Given the description of an element on the screen output the (x, y) to click on. 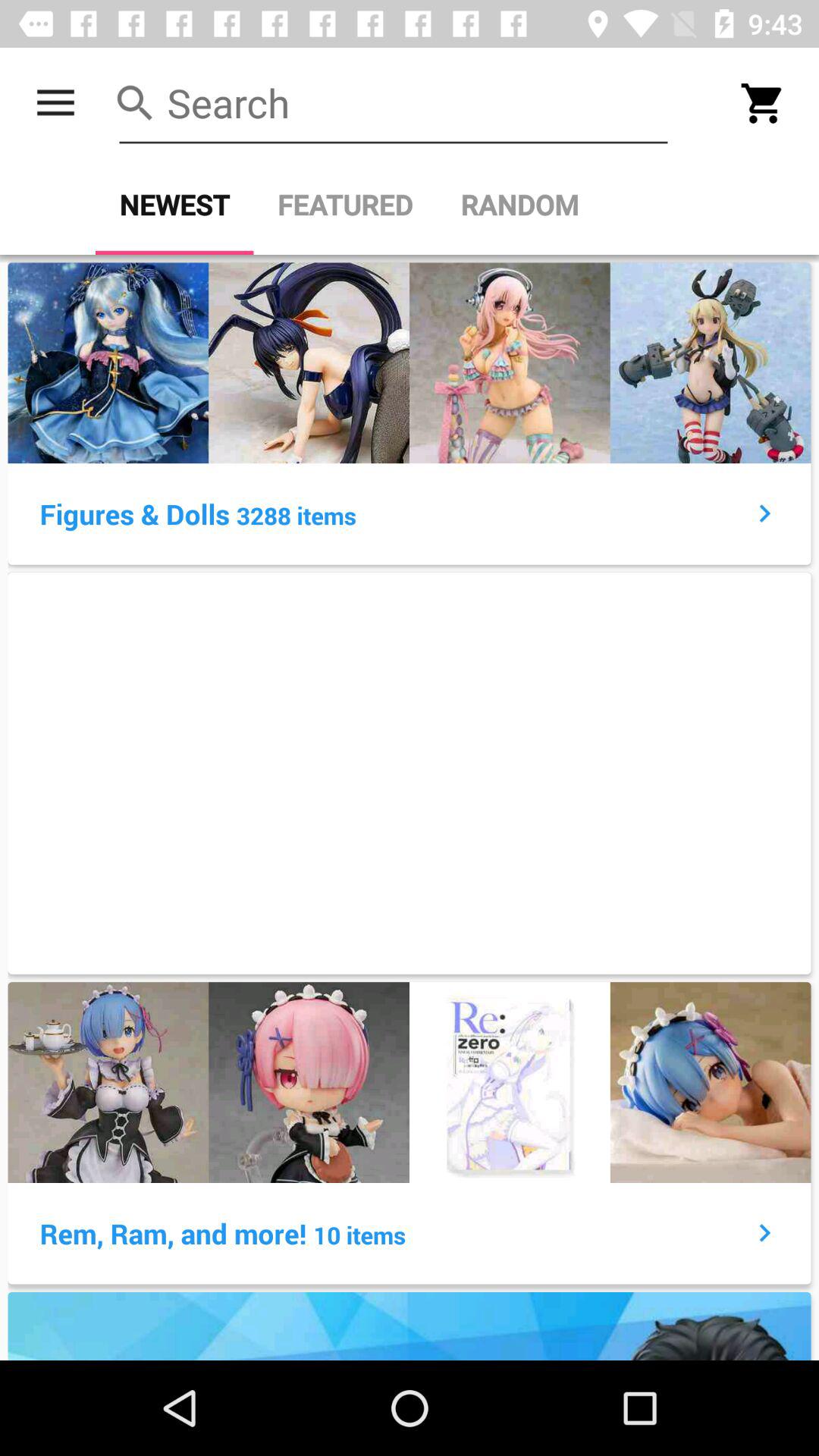
open item above newest icon (393, 103)
